Given the description of an element on the screen output the (x, y) to click on. 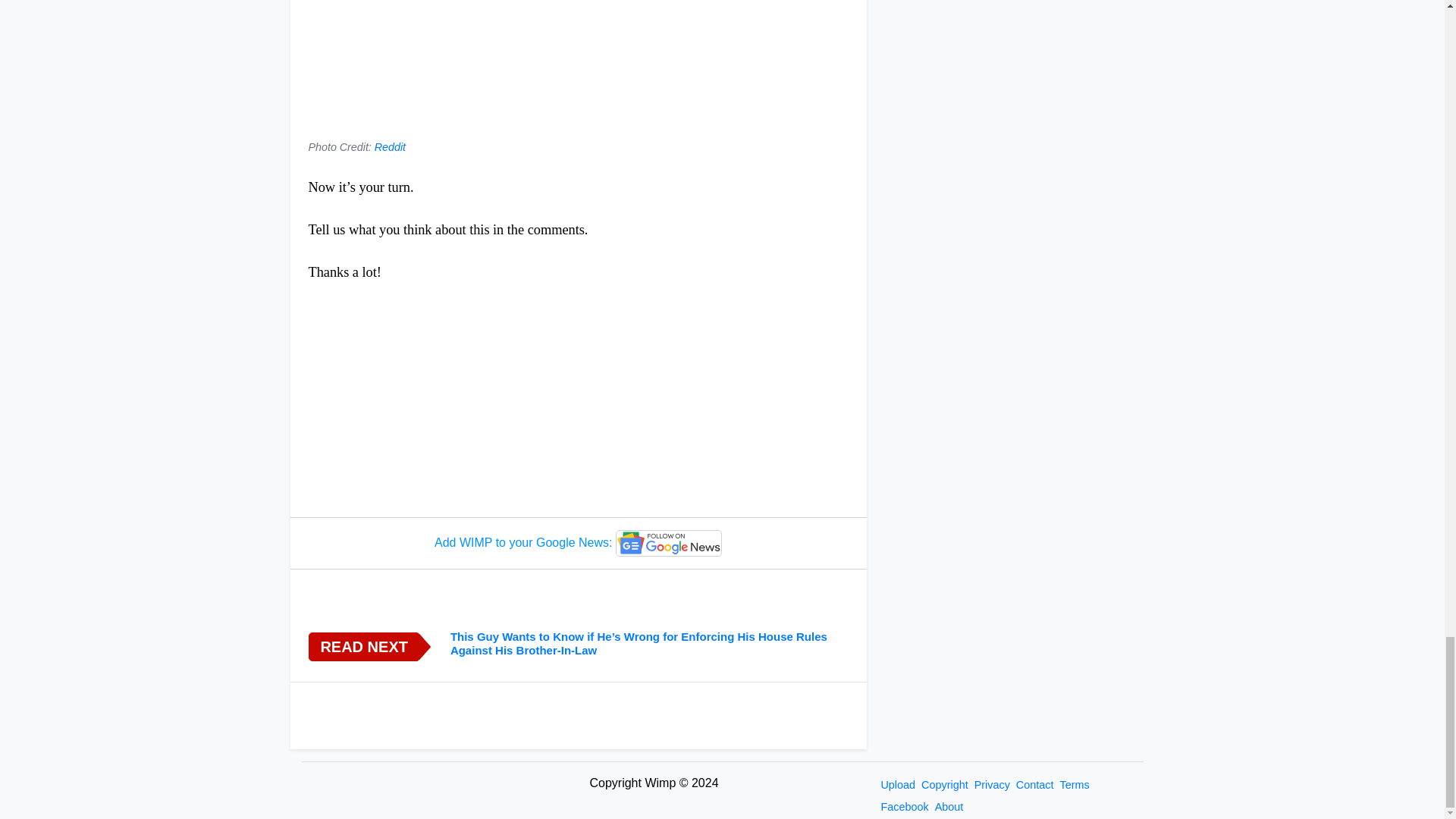
Terms (1074, 784)
Google News (668, 542)
Contact (1035, 784)
Add WIMP to your Google News: (577, 542)
READ NEXT (363, 646)
Reddit (390, 146)
Upload (897, 784)
Privacy (992, 784)
Copyright (944, 784)
